Given the description of an element on the screen output the (x, y) to click on. 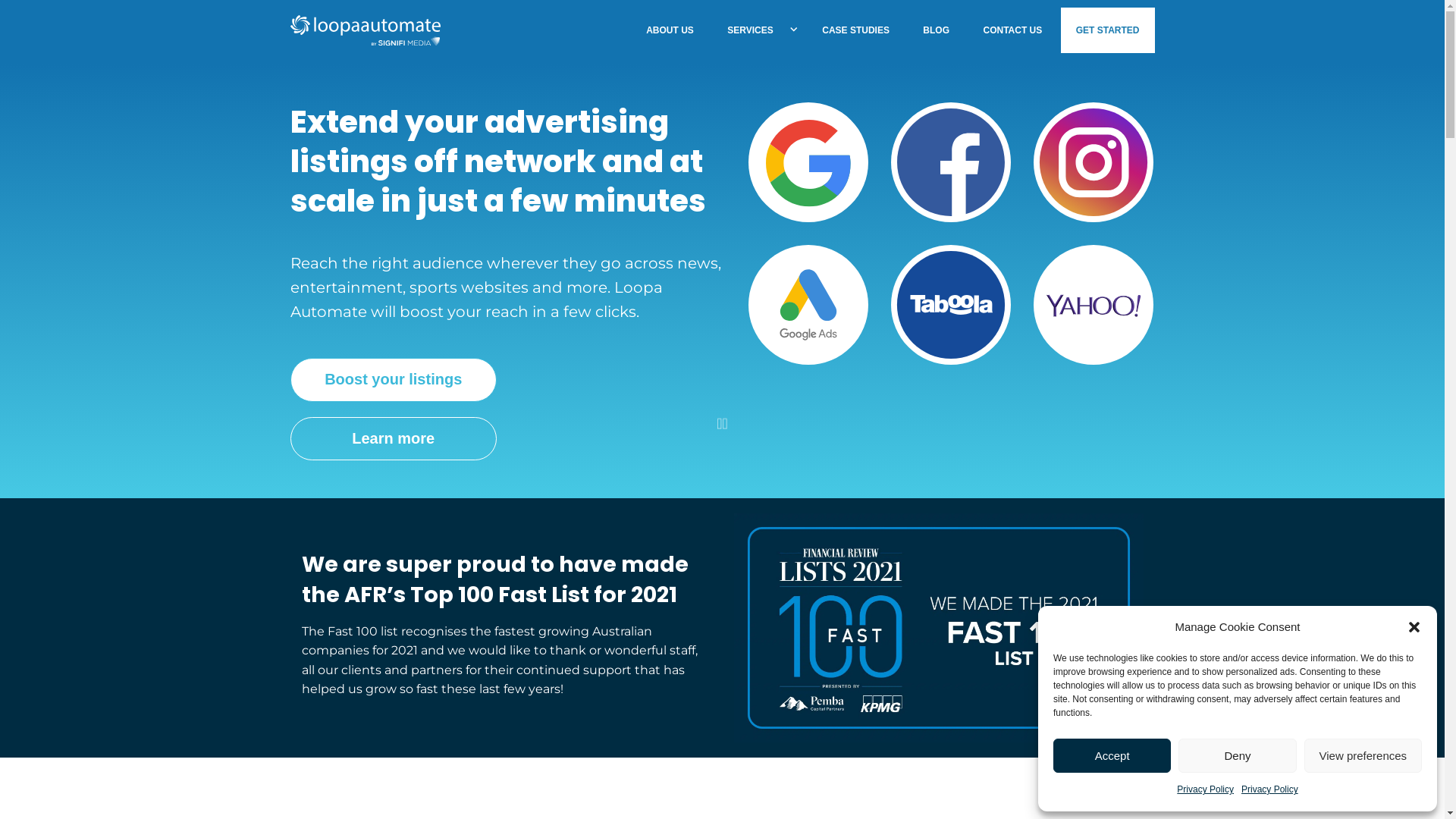
GET STARTED Element type: text (1107, 30)
Boost your listings Element type: text (392, 379)
BLOG Element type: text (935, 30)
ABOUT US Element type: text (669, 30)
SERVICES Element type: text (749, 30)
Learn more Element type: text (392, 439)
Privacy Policy Element type: text (1204, 790)
Deny Element type: text (1236, 755)
CONTACT US Element type: text (1012, 30)
Privacy Policy Element type: text (1269, 790)
View preferences Element type: text (1362, 755)
Accept Element type: text (1111, 755)
CASE STUDIES Element type: text (855, 30)
